Given the description of an element on the screen output the (x, y) to click on. 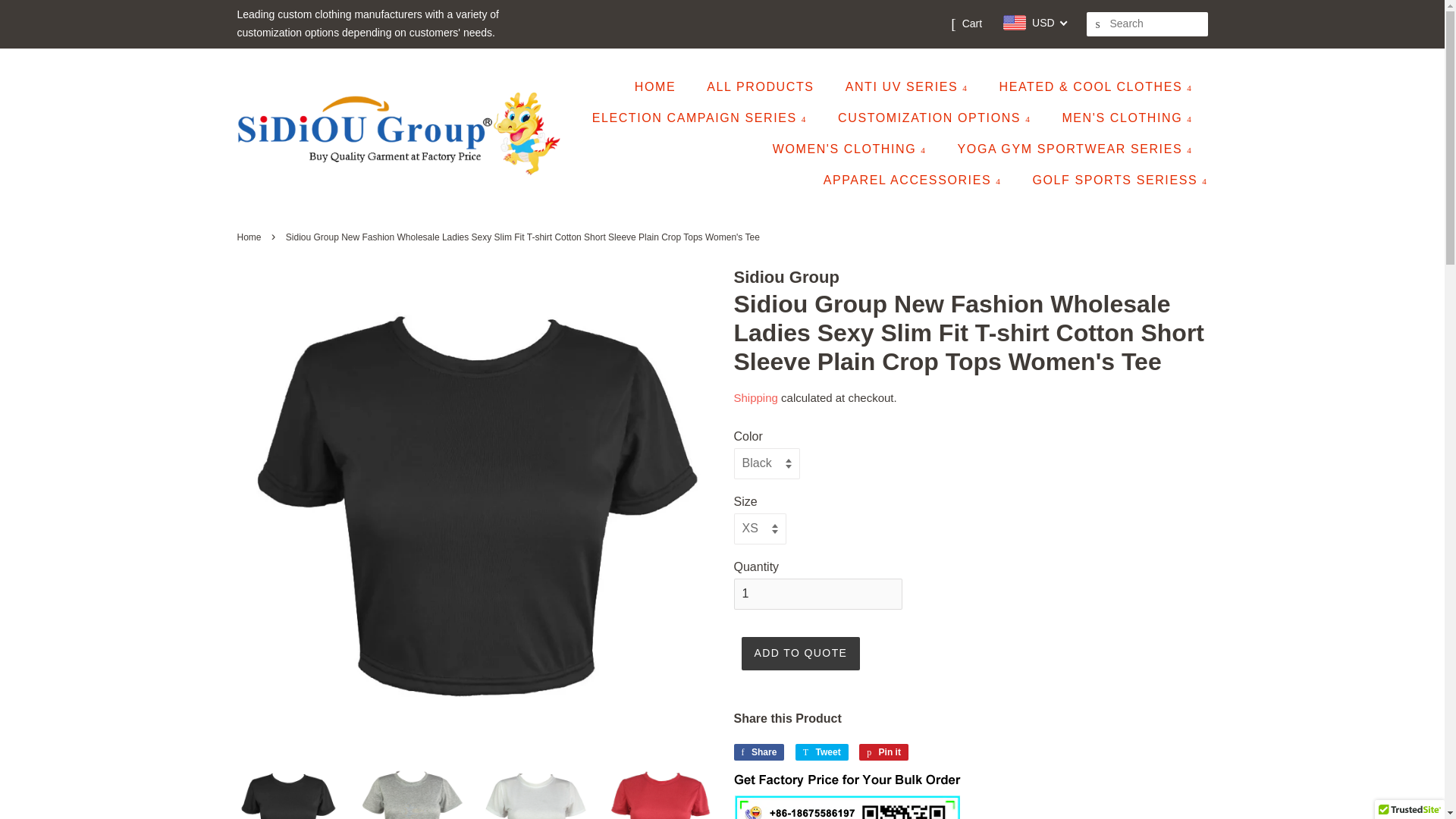
Share on Facebook (758, 751)
1 (817, 593)
SEARCH (1097, 24)
Tweet on Twitter (821, 751)
Pin on Pinterest (883, 751)
Back to the frontpage (249, 236)
Cart (971, 24)
